Given the description of an element on the screen output the (x, y) to click on. 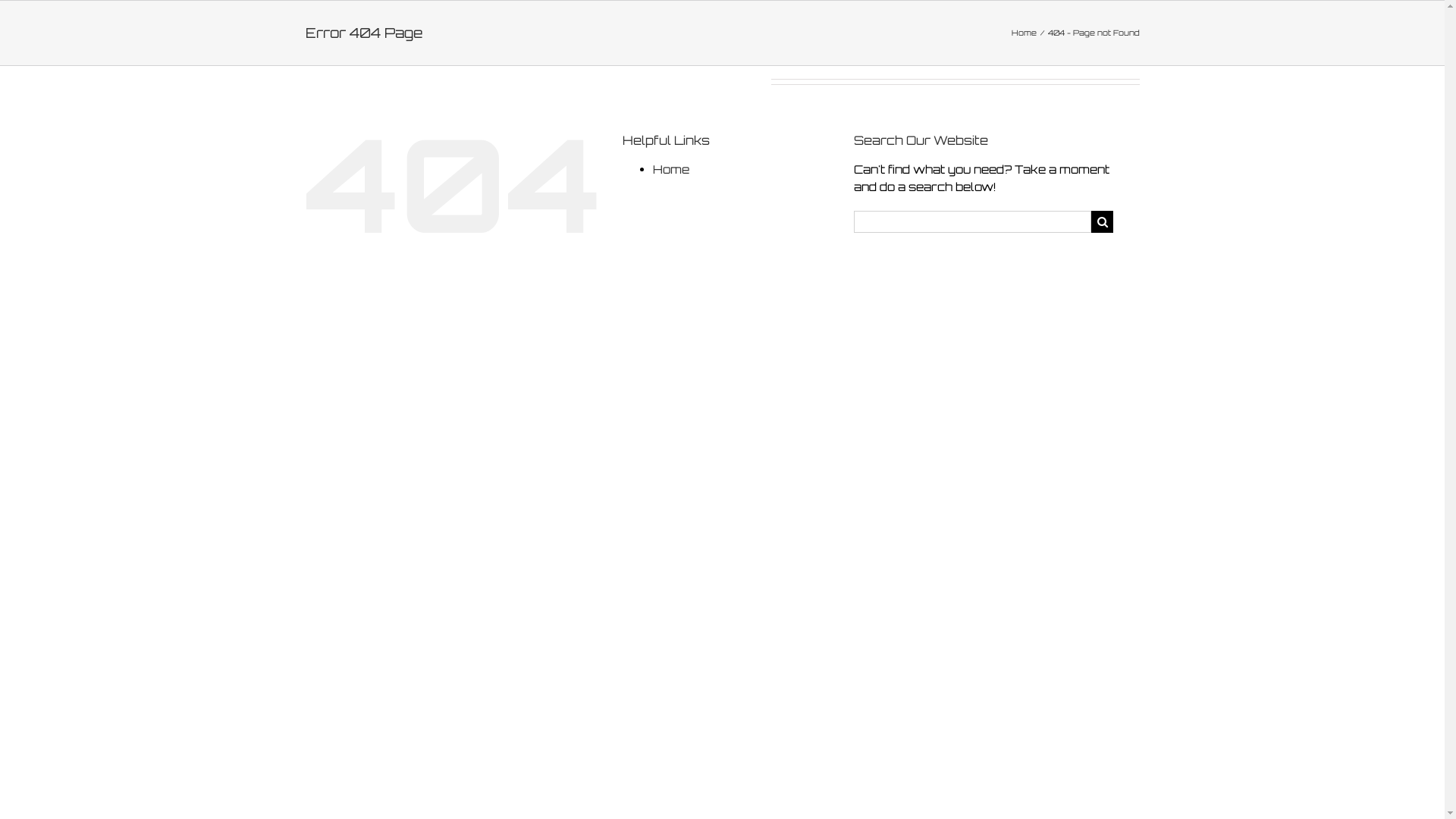
Home Element type: text (670, 169)
Home Element type: text (1023, 32)
